Given the description of an element on the screen output the (x, y) to click on. 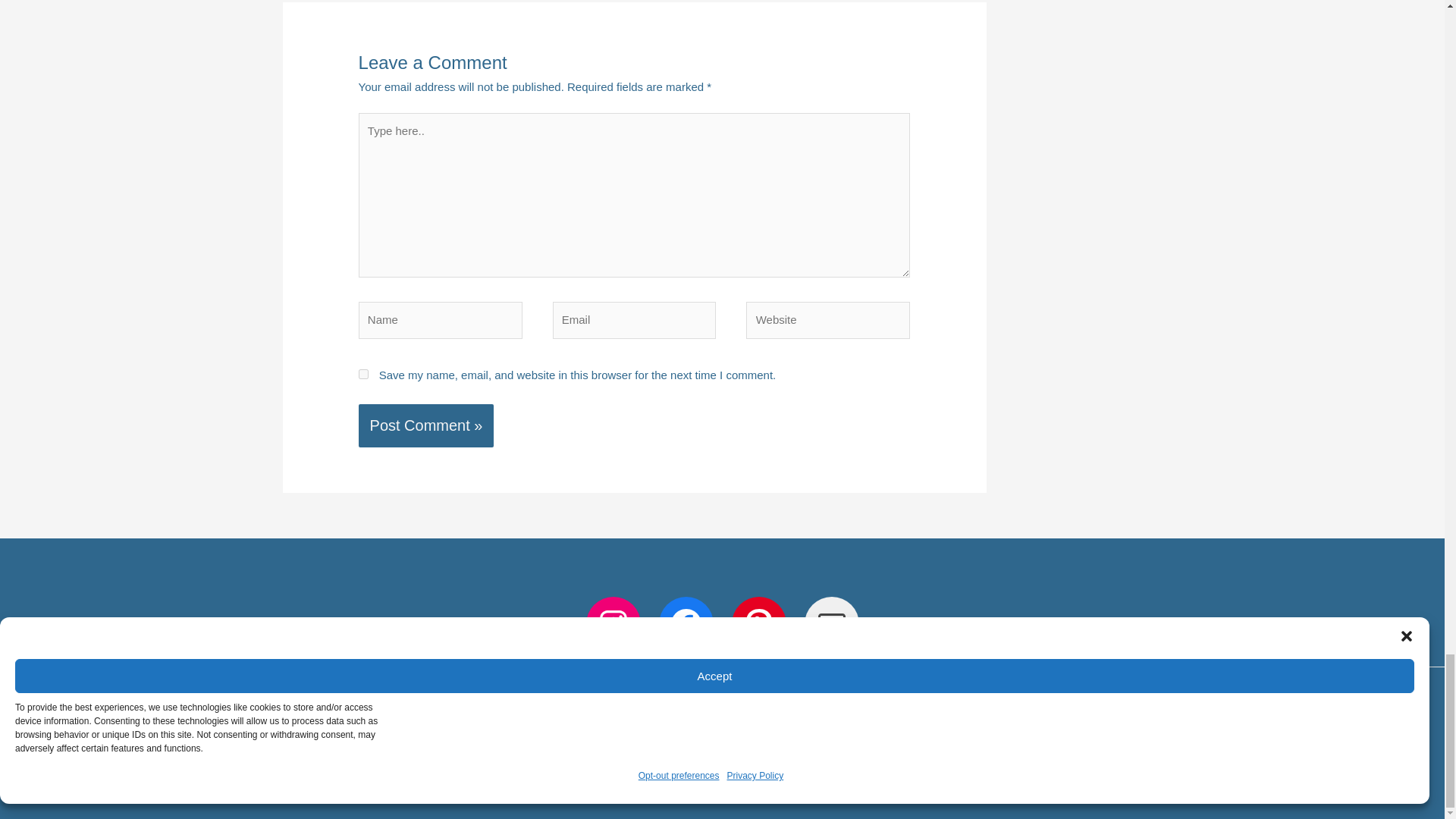
yes (363, 374)
